Given the description of an element on the screen output the (x, y) to click on. 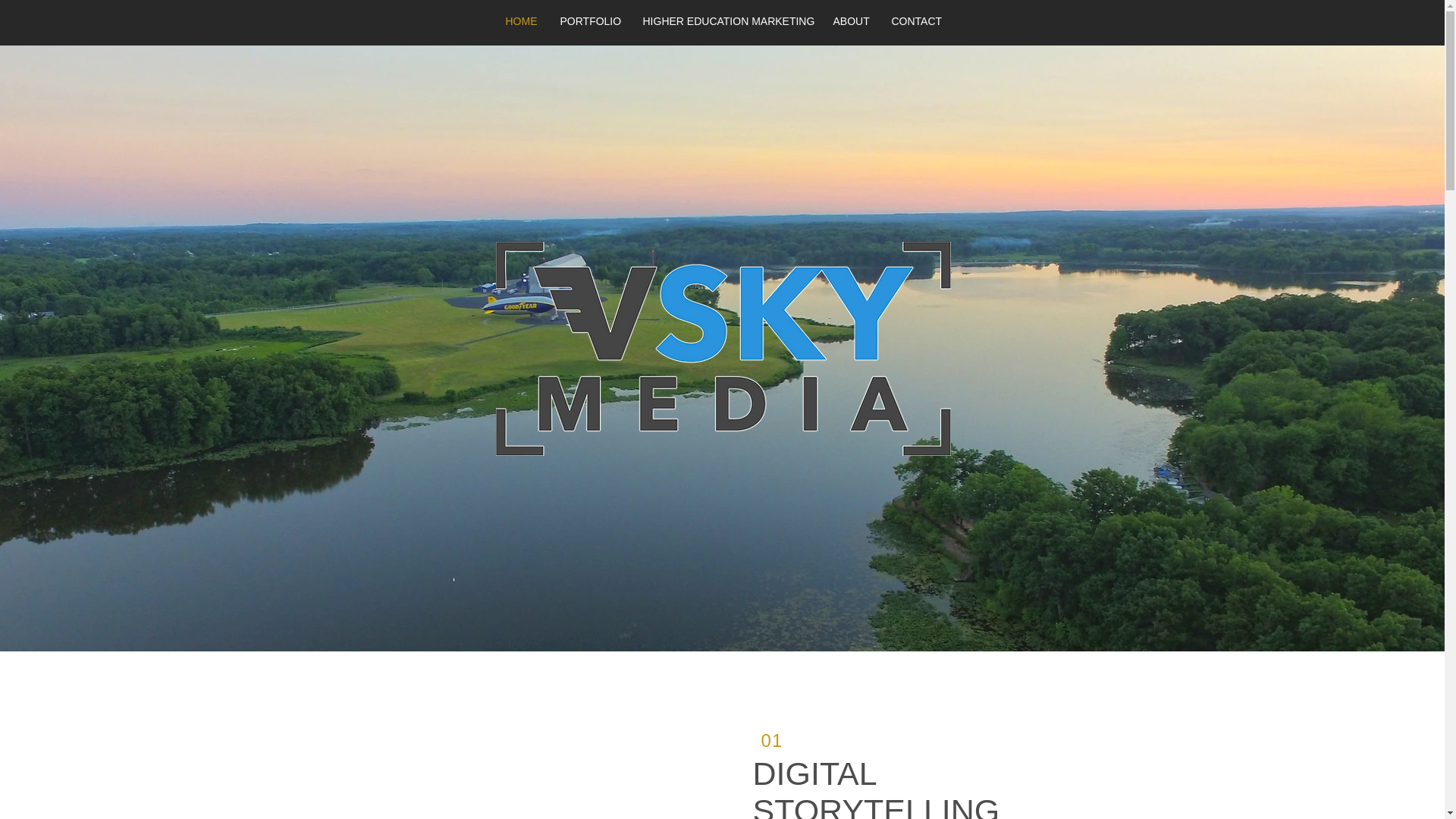
HOME (521, 21)
DIGITAL STORYTELLING (875, 787)
HIGHER EDUCATION MARKETING (725, 21)
PORTFOLIO (589, 21)
CONTACT (914, 21)
ABOUT (851, 21)
